Given the description of an element on the screen output the (x, y) to click on. 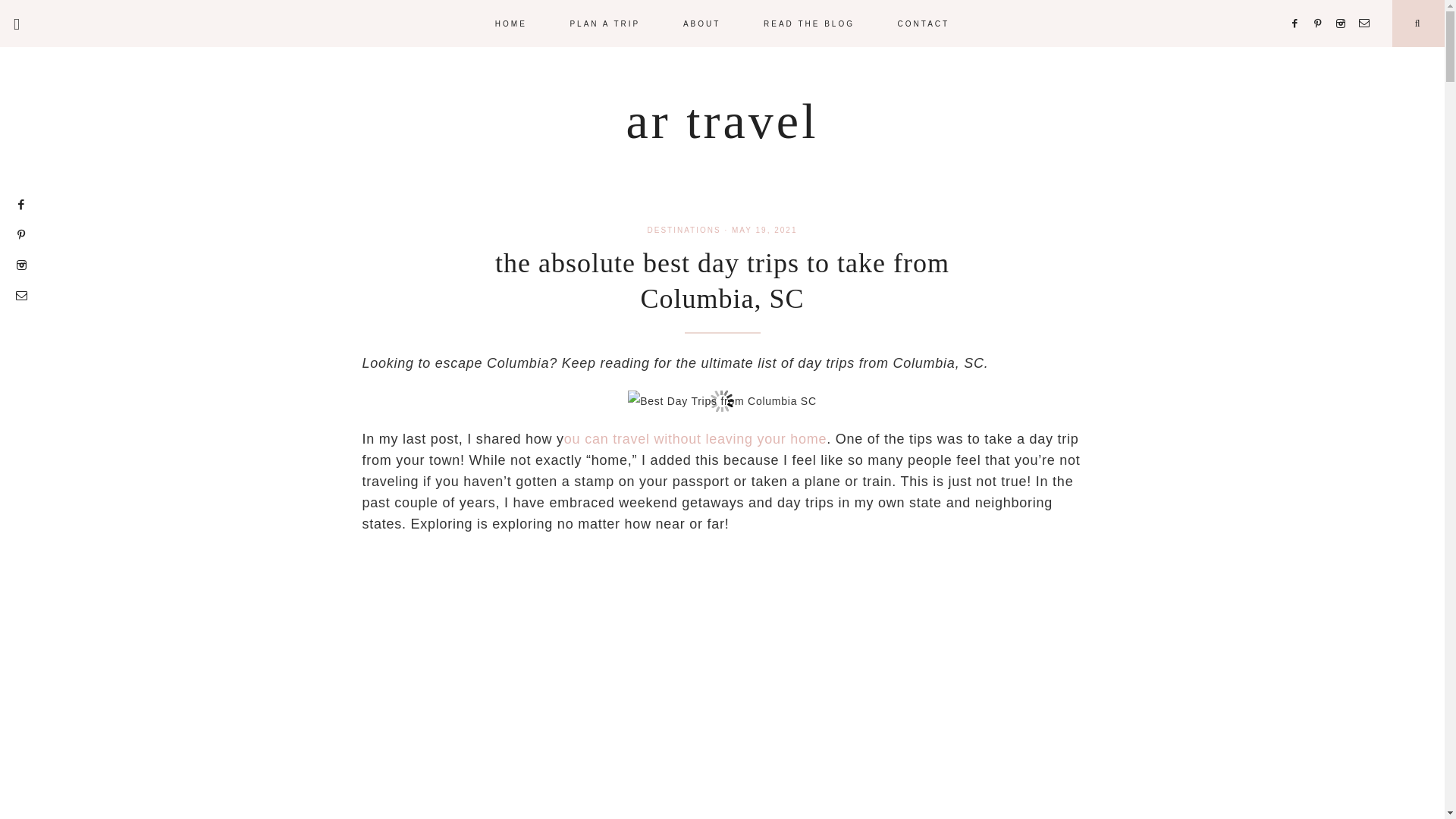
CONTACT (923, 22)
Pinterest (1322, 4)
HOME (511, 22)
DESTINATIONS (683, 230)
PLAN A TRIP (604, 22)
ABOUT (701, 22)
ar travel (722, 120)
Instagram (1344, 4)
READ THE BLOG (809, 22)
Email Me (1366, 4)
ou can travel without leaving your home (695, 438)
Facebook (1298, 4)
